Given the description of an element on the screen output the (x, y) to click on. 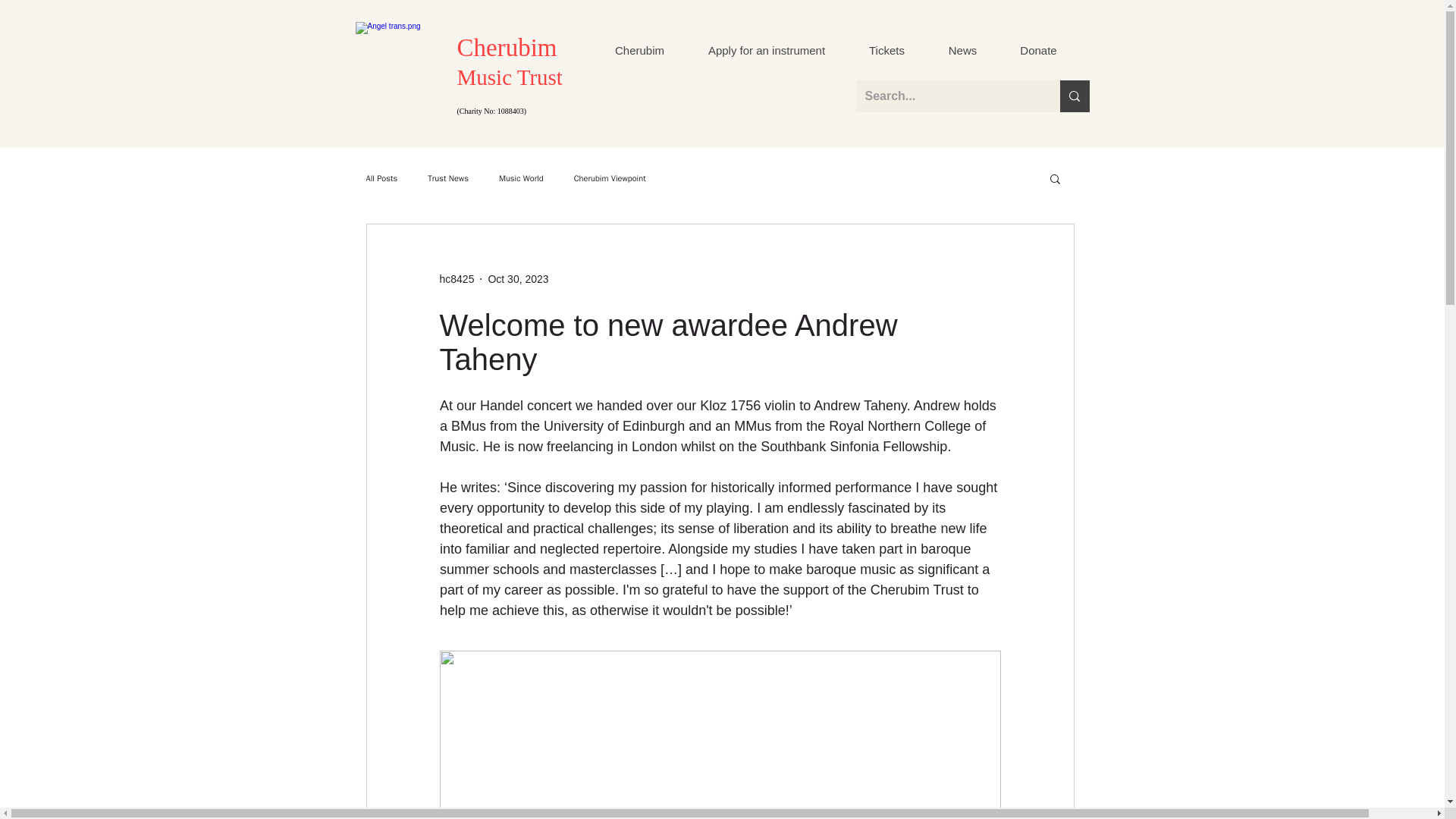
Apply for an instrument (765, 50)
Trust News (448, 178)
hc8425 (456, 279)
hc8425 (456, 279)
Donate (1037, 50)
Music World (521, 178)
Cherubim Viewpoint (609, 178)
Oct 30, 2023 (517, 278)
News (962, 50)
Cherubim (638, 50)
